Given the description of an element on the screen output the (x, y) to click on. 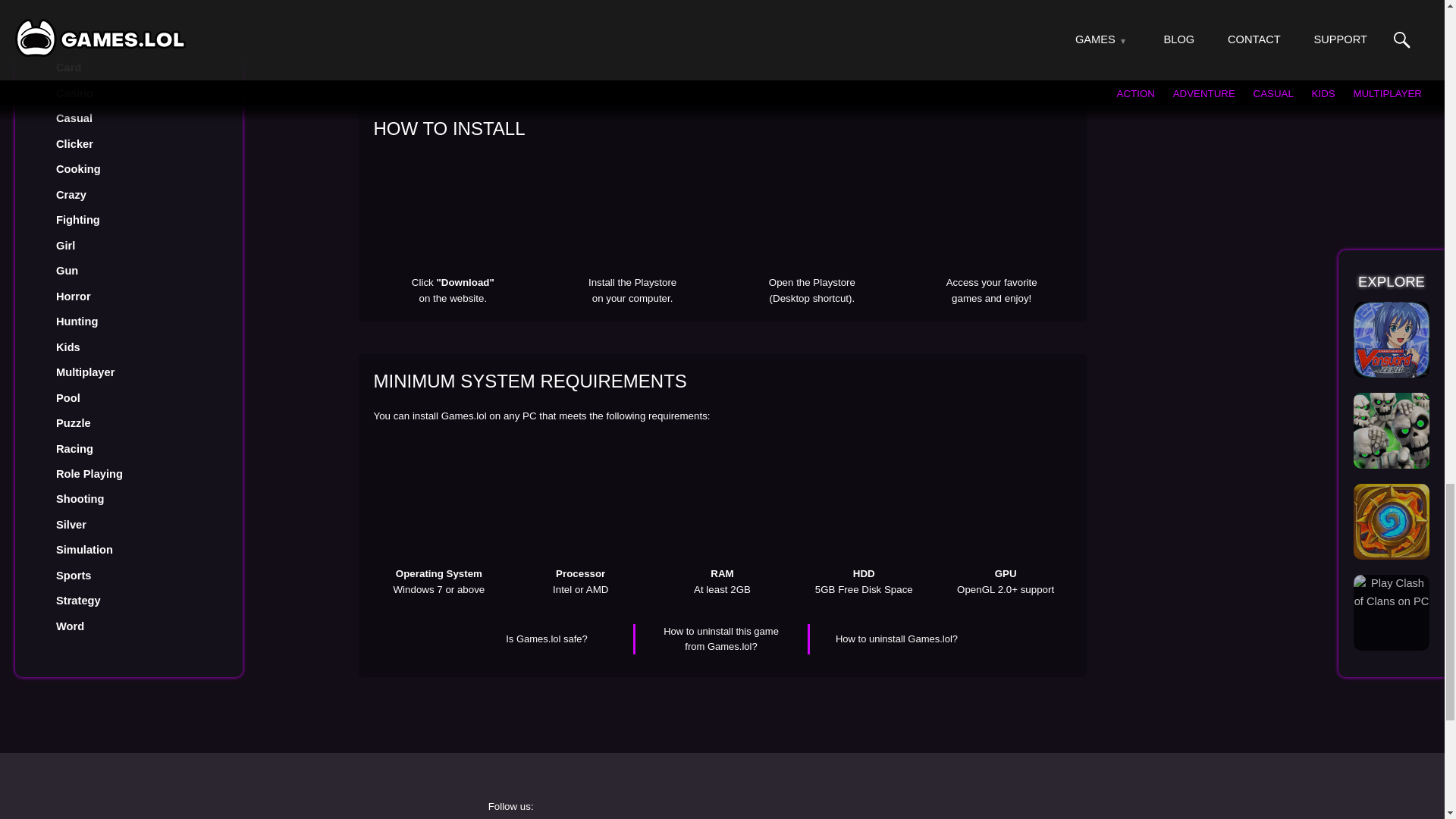
Games.lol free game download website logo (319, 808)
